Given the description of an element on the screen output the (x, y) to click on. 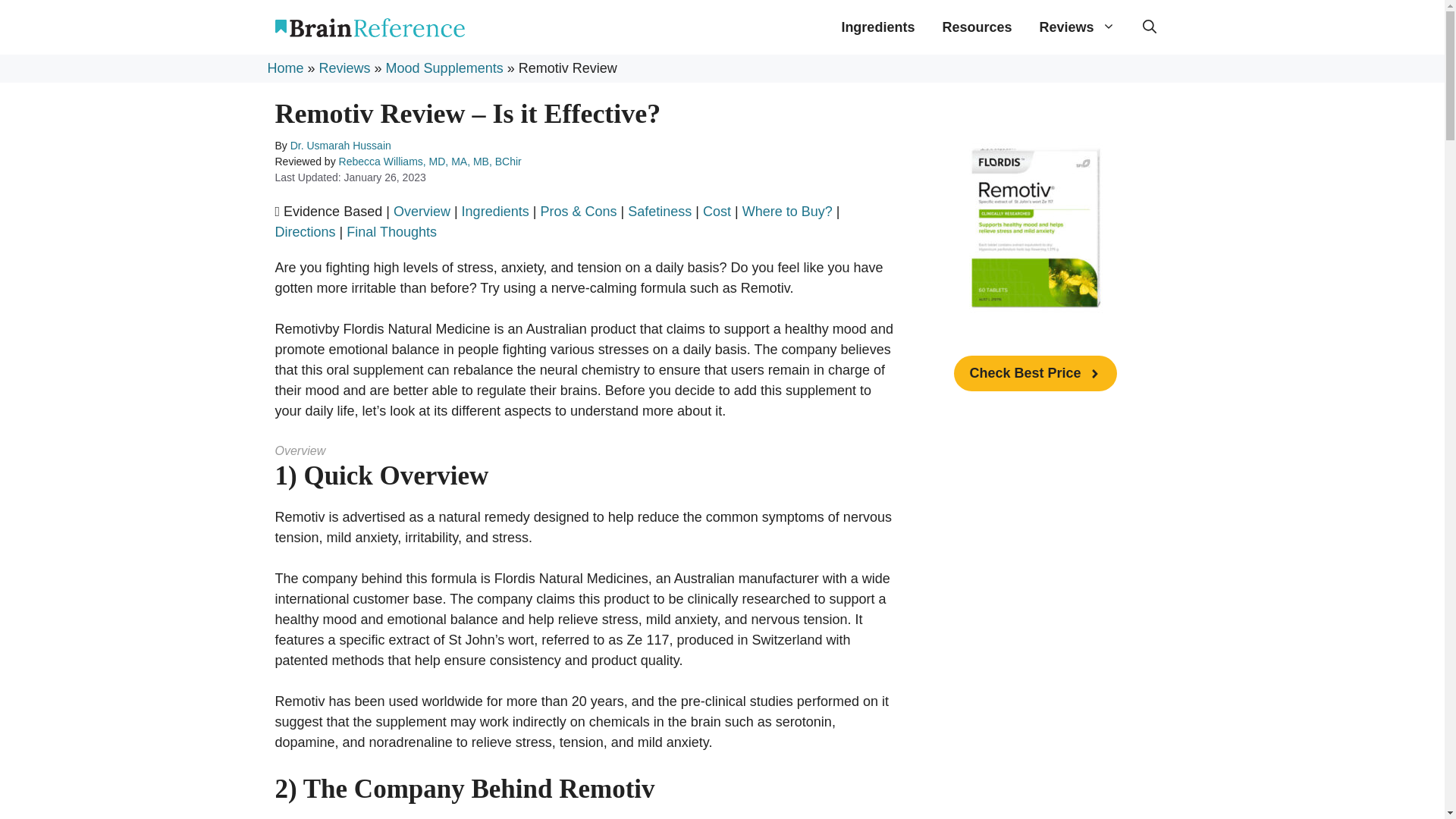
Ingredients (877, 26)
Dr. Usmarah Hussain (340, 145)
Rebecca Williams, MD, MA, MB, BChir (430, 161)
Resources (976, 26)
Where to Buy? (787, 211)
Reviews (344, 68)
Directions (304, 231)
Cost (716, 211)
Home (284, 68)
Safetiness (659, 211)
